Given the description of an element on the screen output the (x, y) to click on. 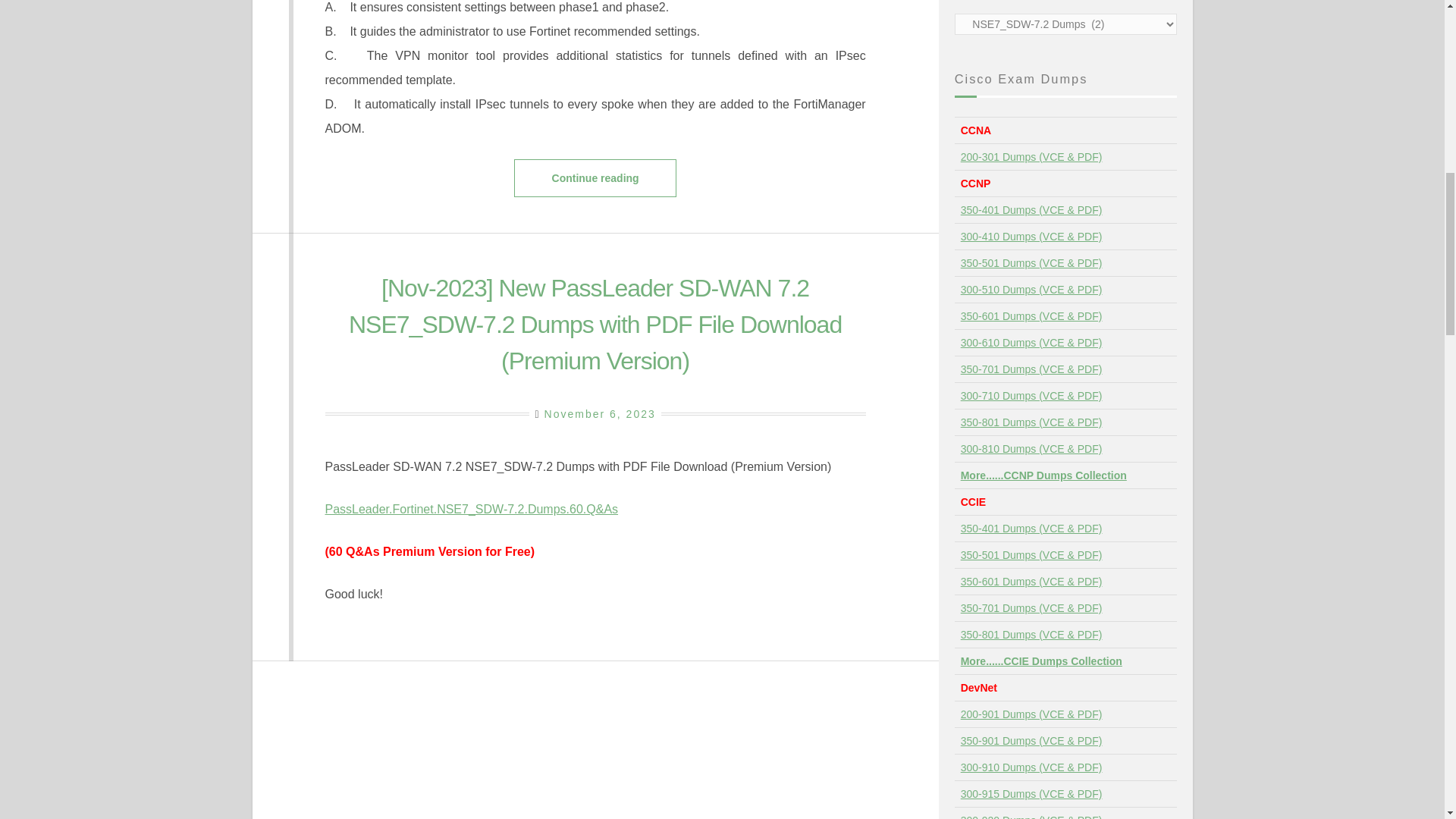
More......CCNP Dumps Collection (1043, 475)
